Given the description of an element on the screen output the (x, y) to click on. 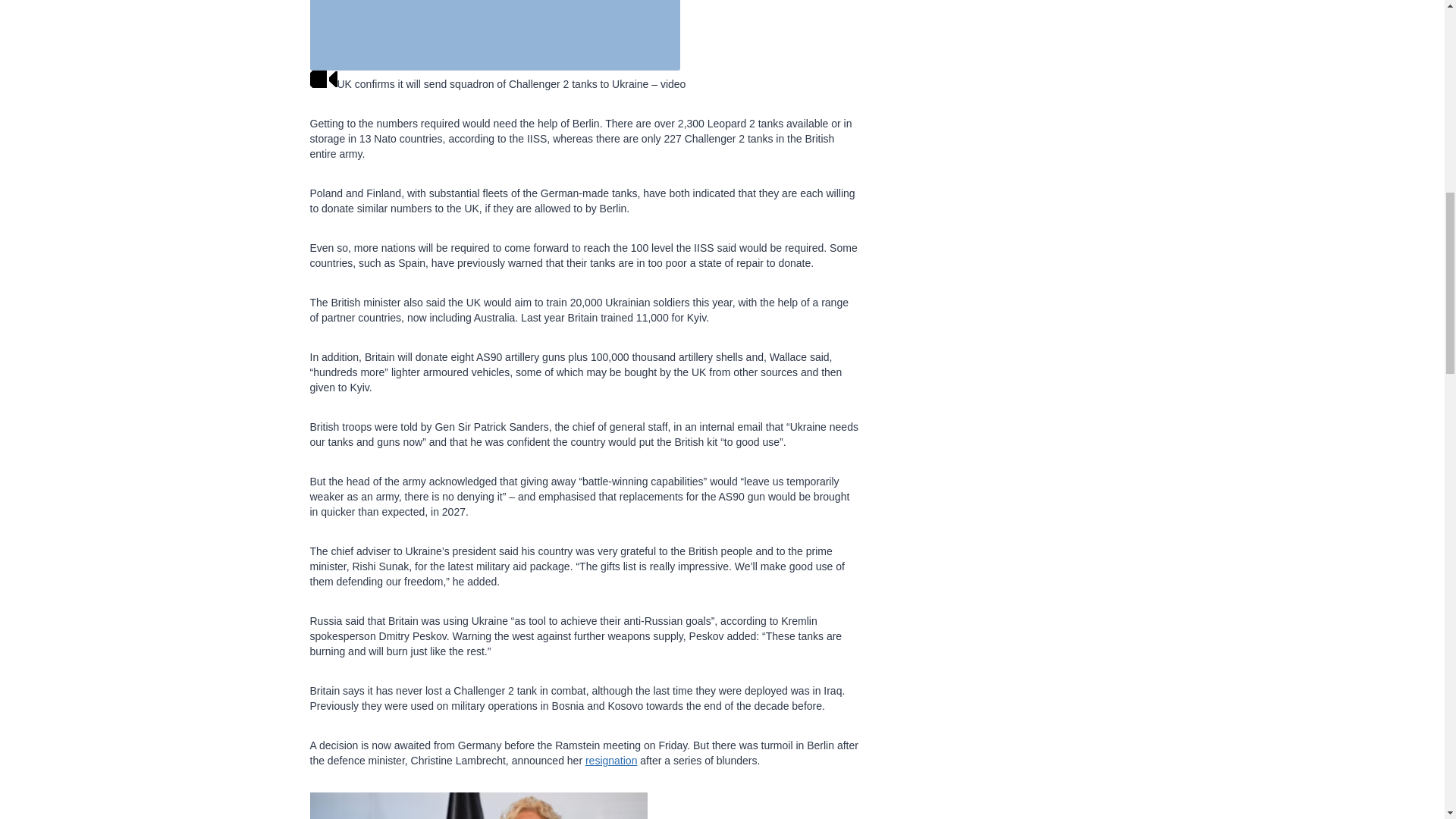
resignation (611, 760)
